Given the description of an element on the screen output the (x, y) to click on. 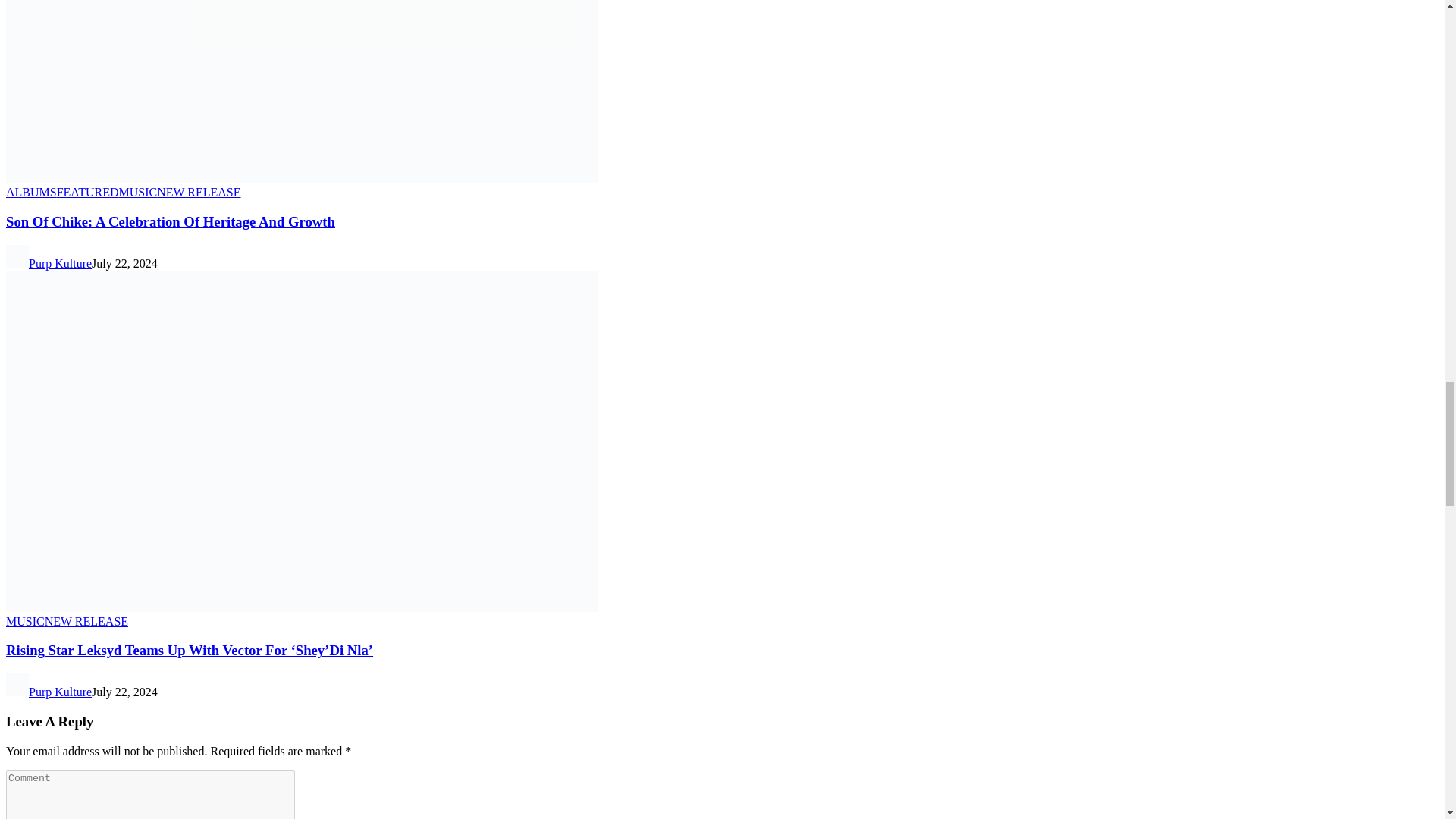
Posts by Purp Kulture (60, 263)
Posts by Purp Kulture (60, 691)
